Given the description of an element on the screen output the (x, y) to click on. 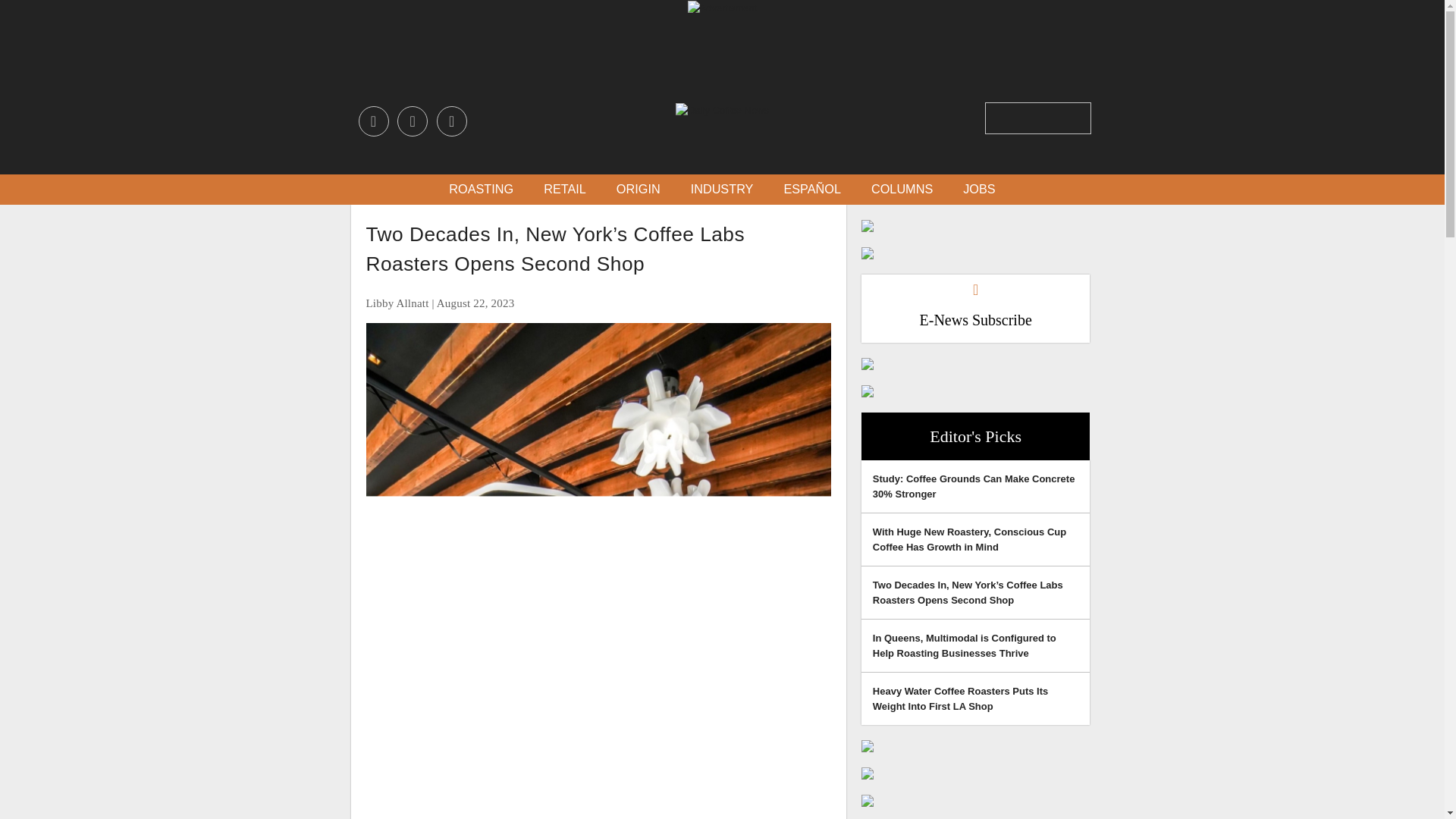
Search (1078, 117)
Search (1078, 117)
ROASTING (480, 189)
Search (1078, 117)
RETAIL (564, 189)
